Given the description of an element on the screen output the (x, y) to click on. 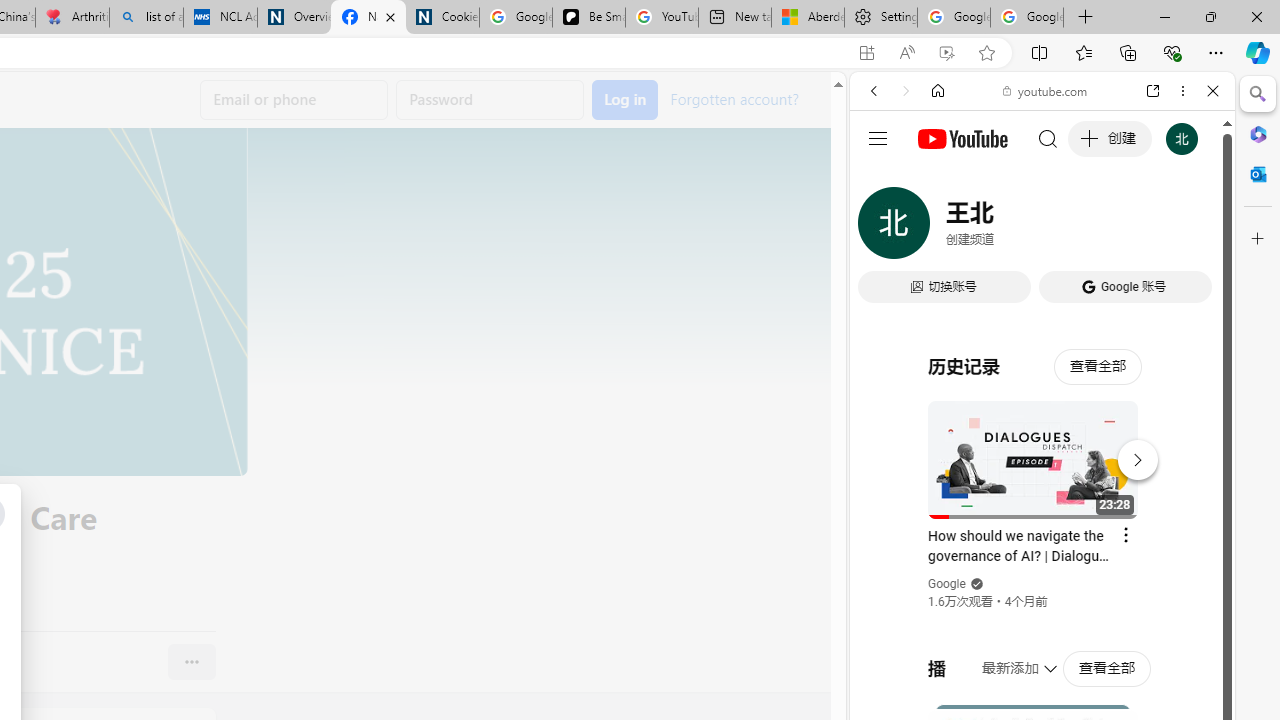
Class: b_serphb (1190, 229)
Search Filter, IMAGES (939, 228)
list of asthma inhalers uk - Search (146, 17)
Search Filter, Search Tools (1093, 228)
WEB   (882, 228)
Search Filter, VIDEOS (1006, 228)
Google (1042, 494)
Search videos from youtube.com (1005, 657)
IMAGES (939, 228)
